Given the description of an element on the screen output the (x, y) to click on. 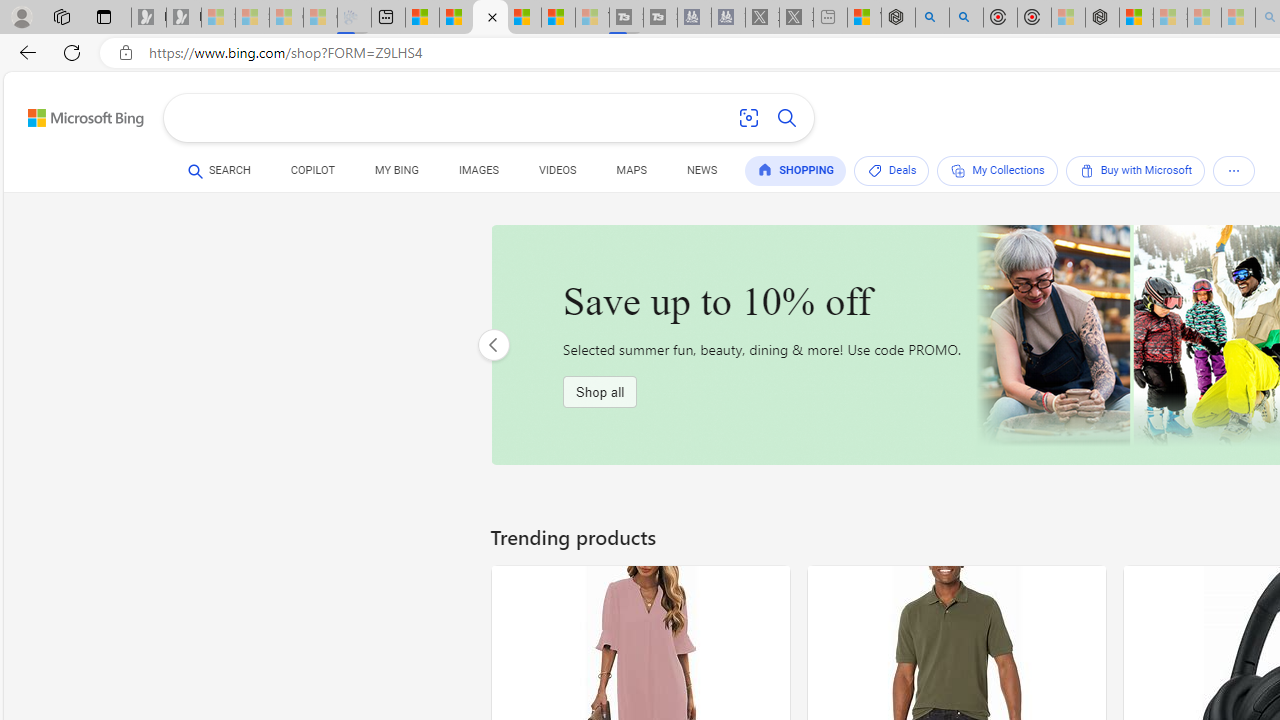
New tab - Sleeping (830, 17)
Streaming Coverage | T3 - Sleeping (626, 17)
Close tab (491, 16)
Nordace - Summer Adventures 2024 (898, 17)
MY BING (396, 173)
